Given the description of an element on the screen output the (x, y) to click on. 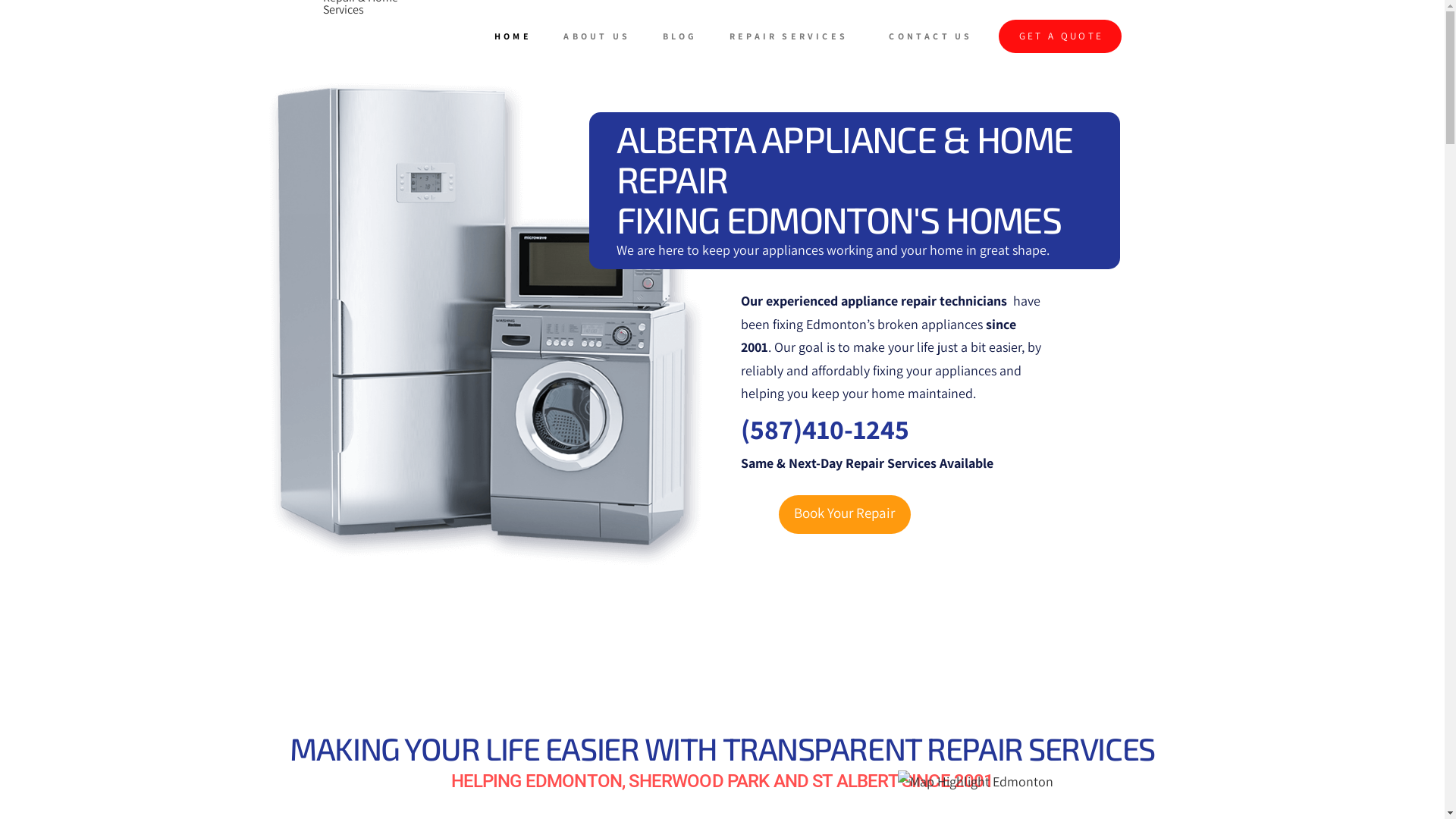
GET A QUOTE Element type: text (1059, 35)
ABOUT US Element type: text (599, 36)
REPAIR SERVICES Element type: text (795, 36)
BLOG Element type: text (682, 36)
CONTACT US Element type: text (933, 36)
HOME Element type: text (514, 36)
(587)410-1245 Element type: text (824, 428)
Book Your Repair Element type: text (844, 514)
